Given the description of an element on the screen output the (x, y) to click on. 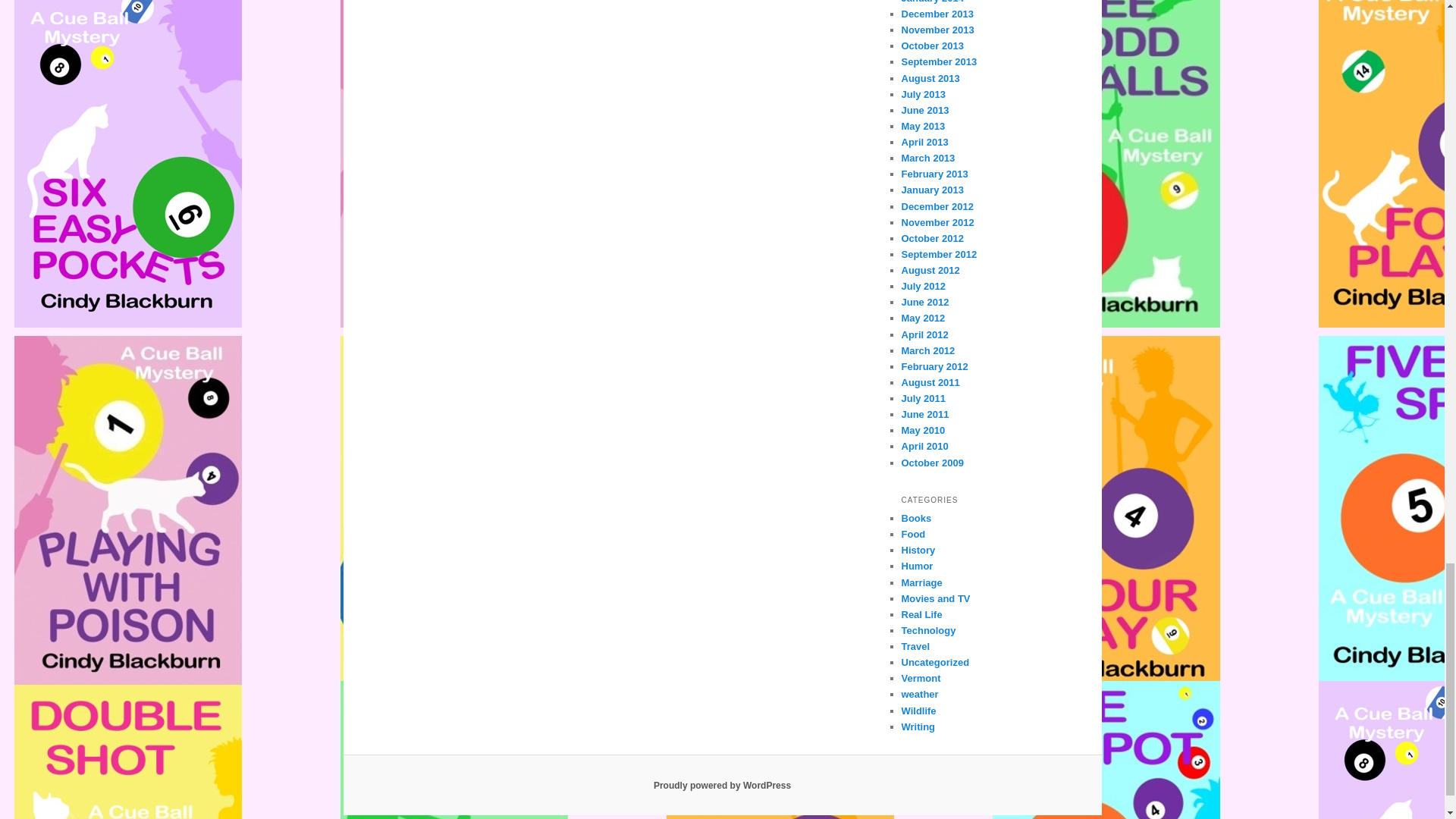
Semantic Personal Publishing Platform (721, 785)
